Given the description of an element on the screen output the (x, y) to click on. 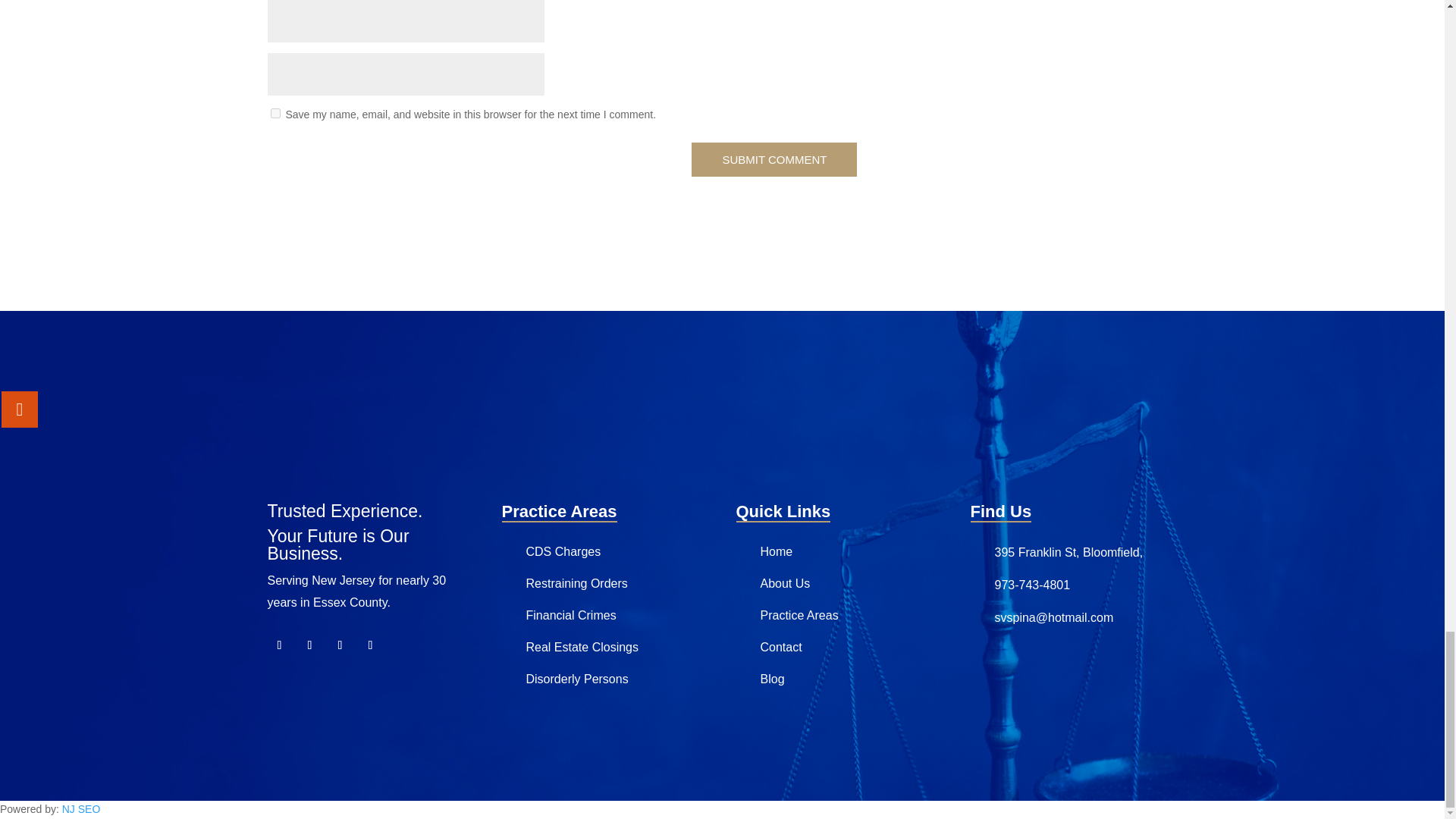
Follow on Facebook (278, 645)
yes (274, 112)
Follow on Youtube (339, 645)
Follow on Instagram (369, 645)
Follow on Twitter (309, 645)
